Given the description of an element on the screen output the (x, y) to click on. 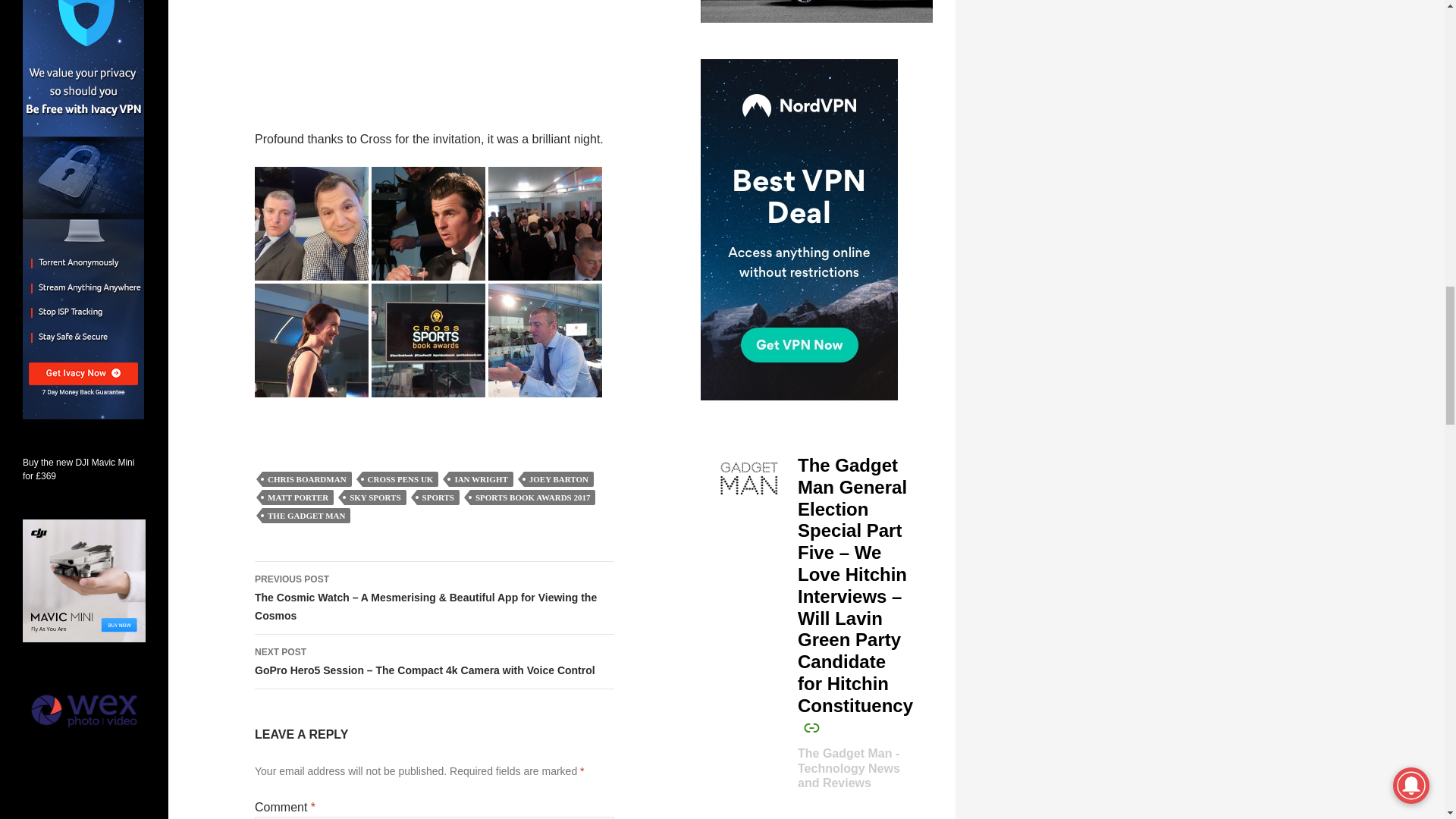
The Cross Sports Book Awards 2017 TV highlights show (434, 53)
